Given the description of an element on the screen output the (x, y) to click on. 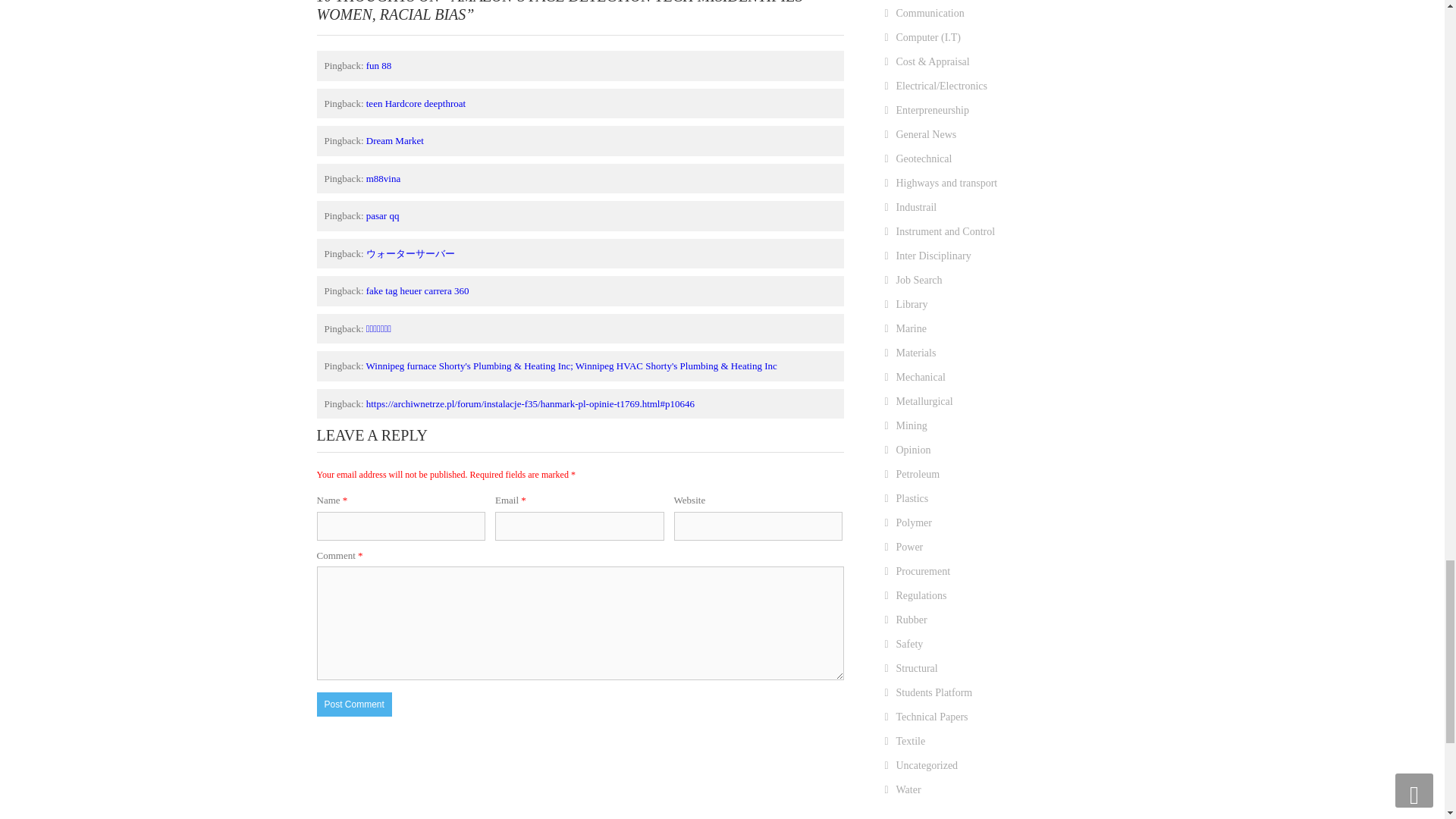
Post Comment (354, 704)
